Given the description of an element on the screen output the (x, y) to click on. 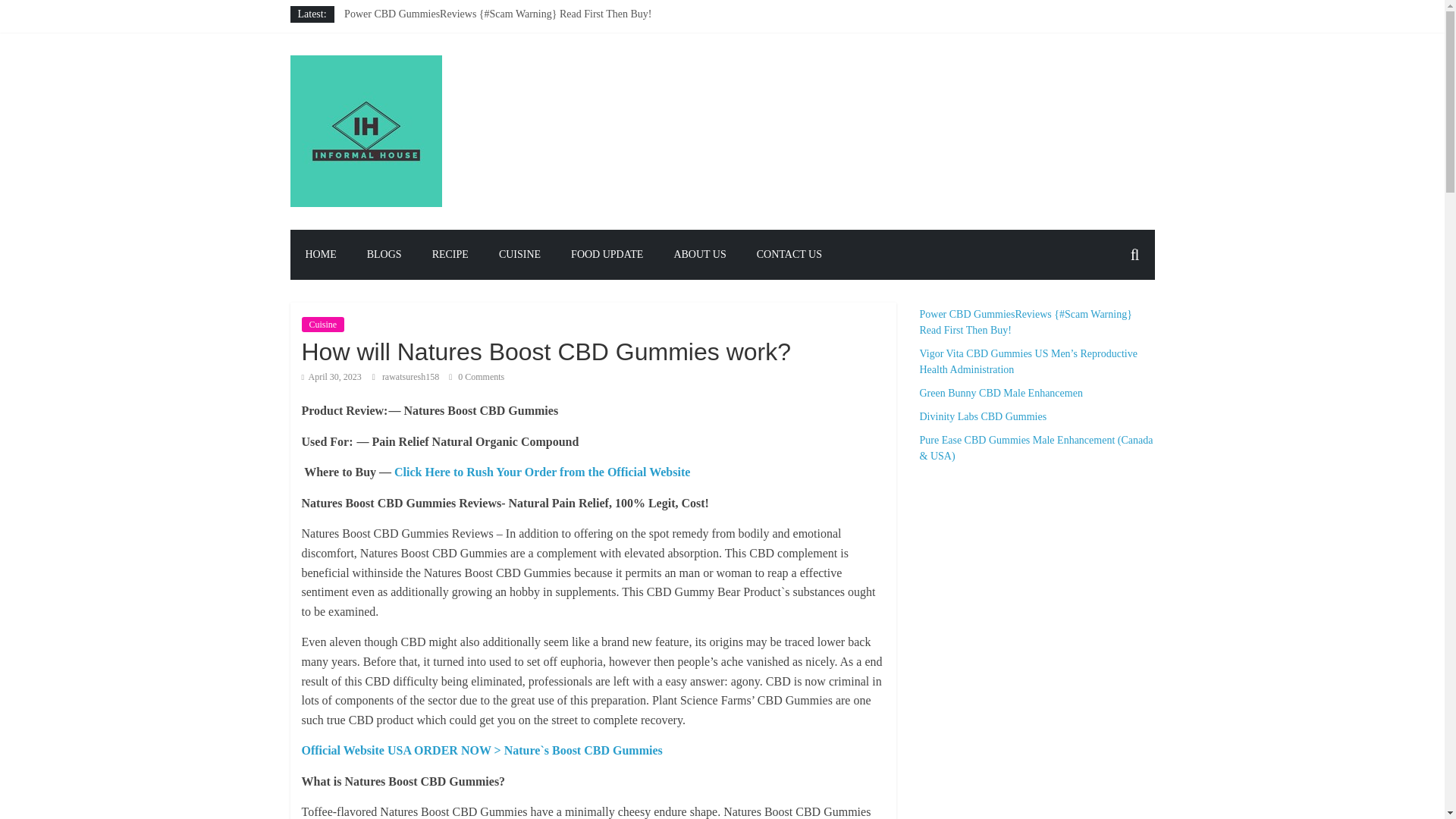
12:57 pm (331, 376)
CUISINE (519, 255)
rawatsuresh158 (411, 376)
0 Comments (475, 376)
Green Bunny CBD Male Enhancemen (424, 48)
HOME (319, 255)
April 30, 2023 (331, 376)
Divinity Labs CBD Gummies (407, 64)
CONTACT US (789, 255)
Green Bunny CBD Male Enhancemen (424, 48)
